Given the description of an element on the screen output the (x, y) to click on. 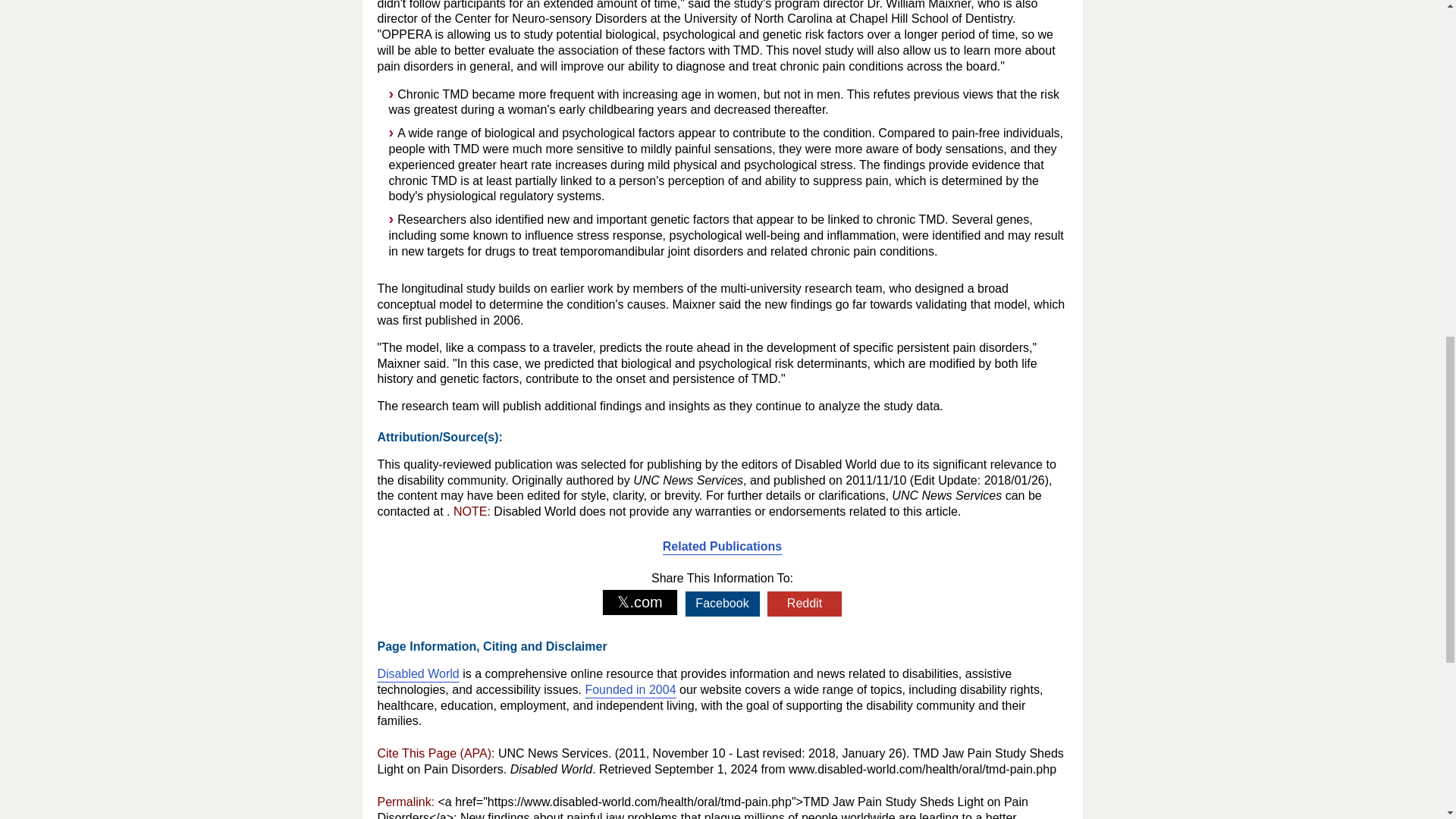
Founded in 2004 (630, 689)
Disabled World (418, 673)
Share on X (640, 601)
